Given the description of an element on the screen output the (x, y) to click on. 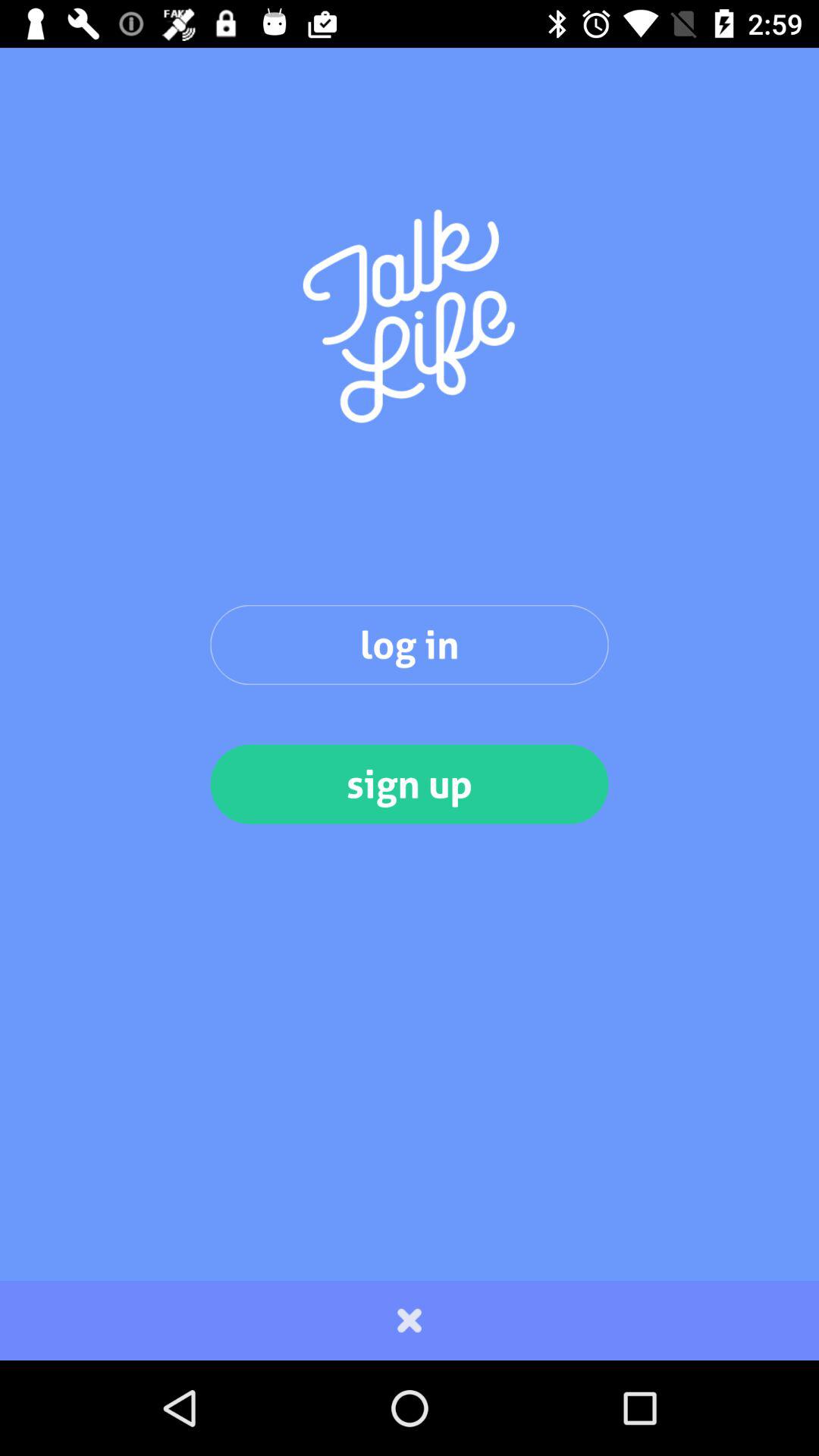
scroll to the sign up icon (409, 784)
